Given the description of an element on the screen output the (x, y) to click on. 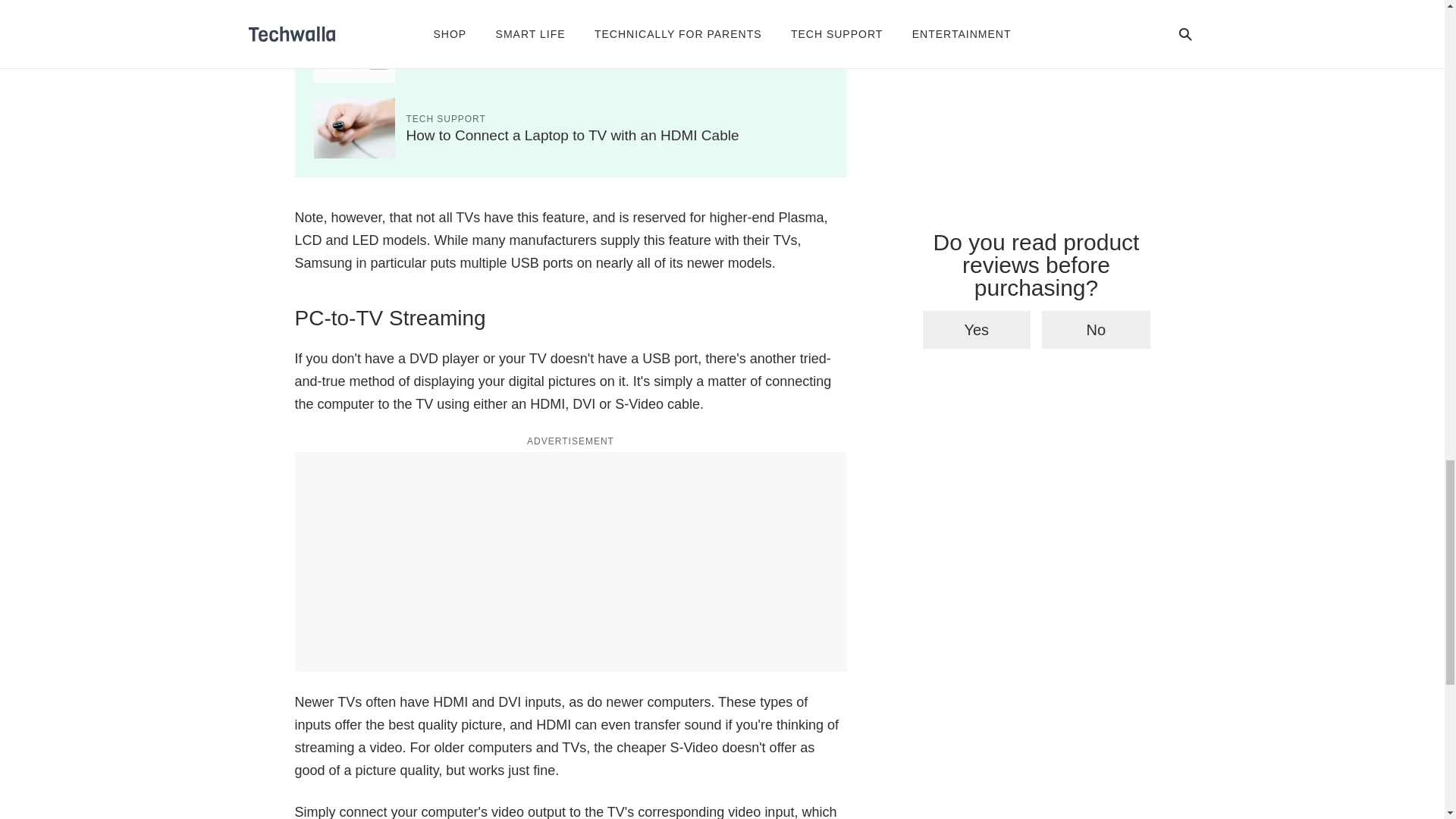
How to Connect My PC to My Vizio TV (529, 59)
How to Connect a Laptop to TV with an HDMI Cable (572, 135)
